Given the description of an element on the screen output the (x, y) to click on. 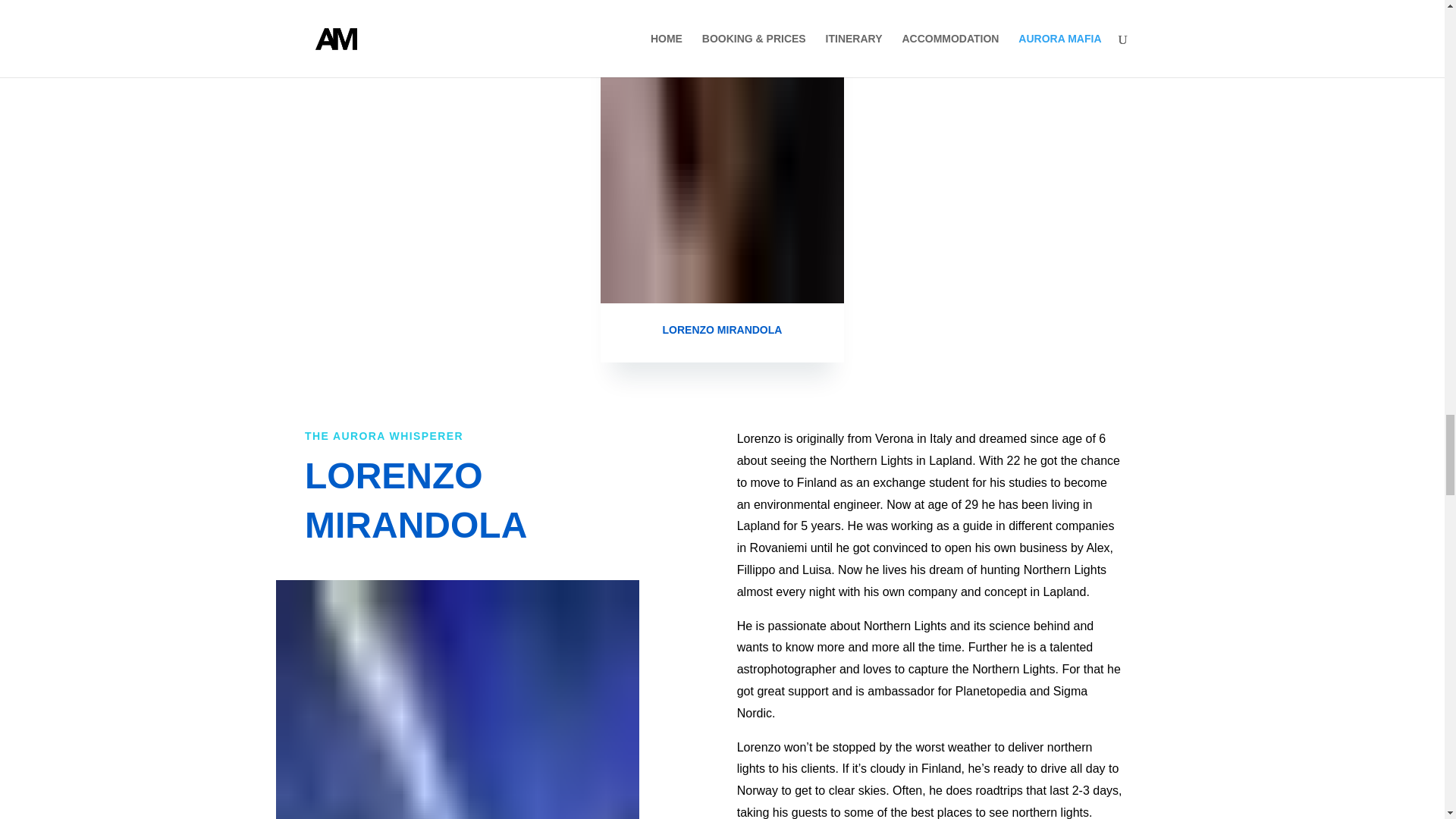
Lorenzo Mirandola taking pictures of northern lights. (458, 699)
